Given the description of an element on the screen output the (x, y) to click on. 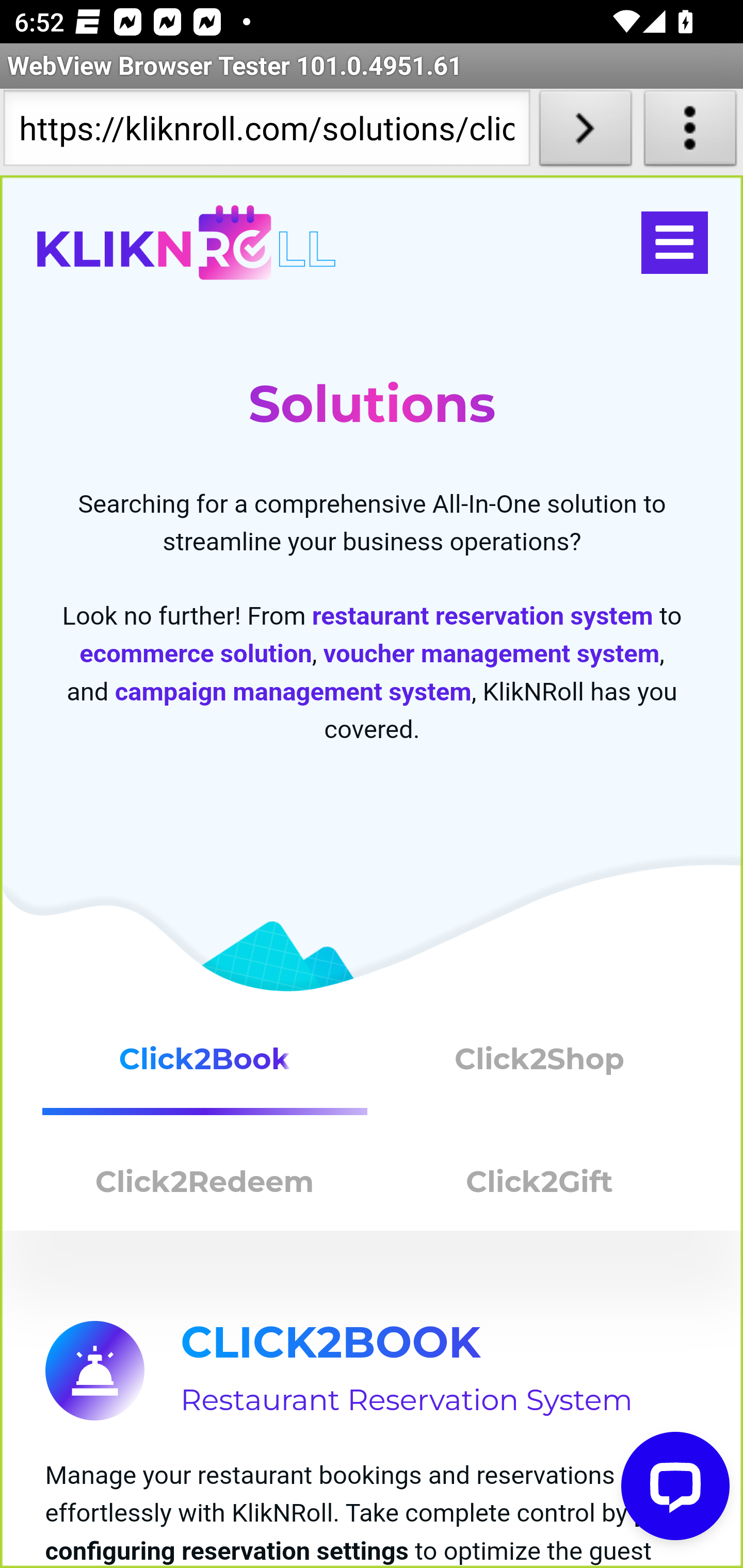
Load URL (585, 132)
About WebView (690, 132)
kliknroll (185, 242)
 (673, 242)
Click2Book (204, 1066)
Click2Shop (540, 1066)
Click2Redeem (204, 1185)
Click2Gift (540, 1185)
Open LiveChat chat widget (676, 1486)
